Given the description of an element on the screen output the (x, y) to click on. 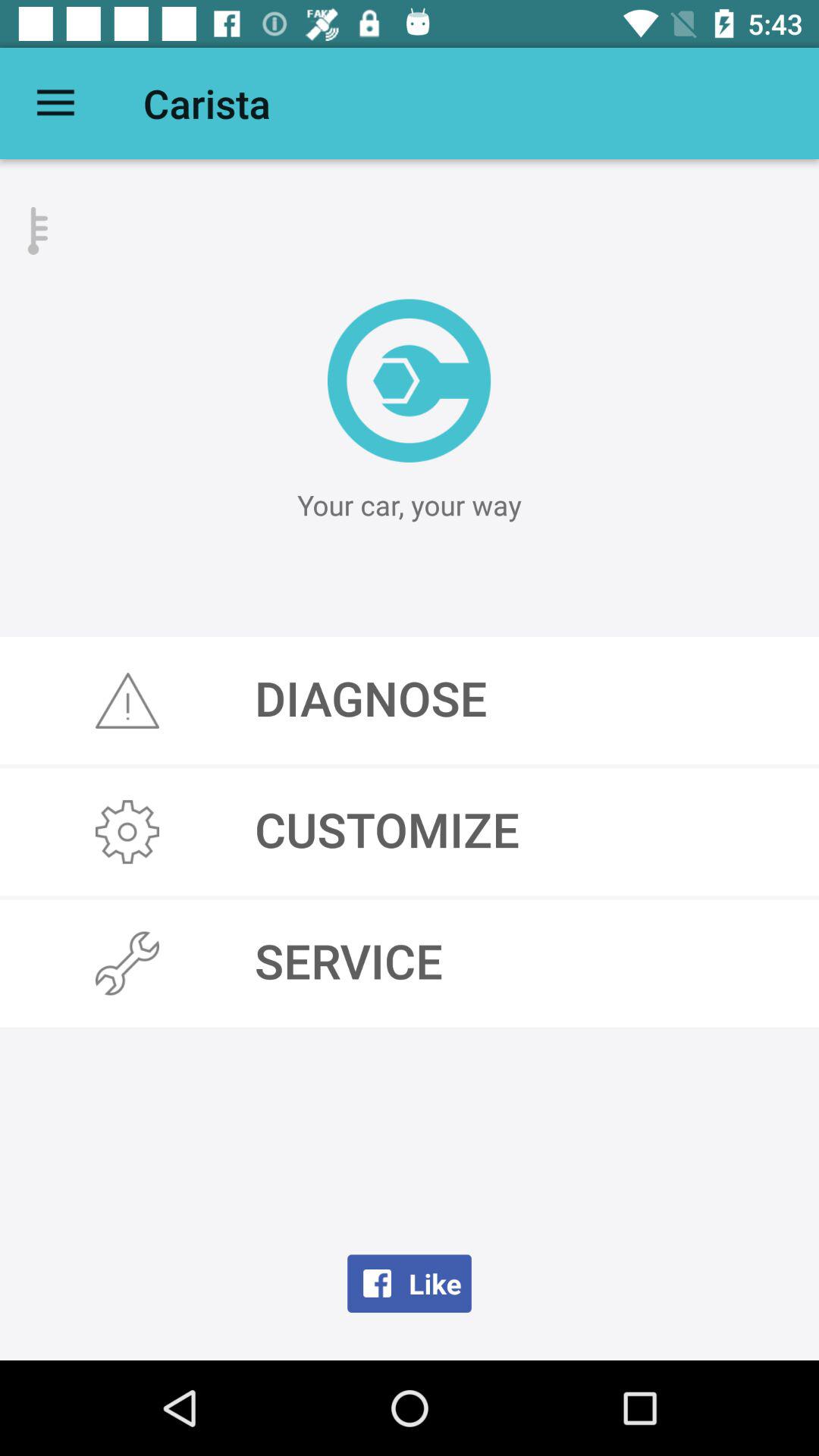
flip until the service icon (409, 963)
